Given the description of an element on the screen output the (x, y) to click on. 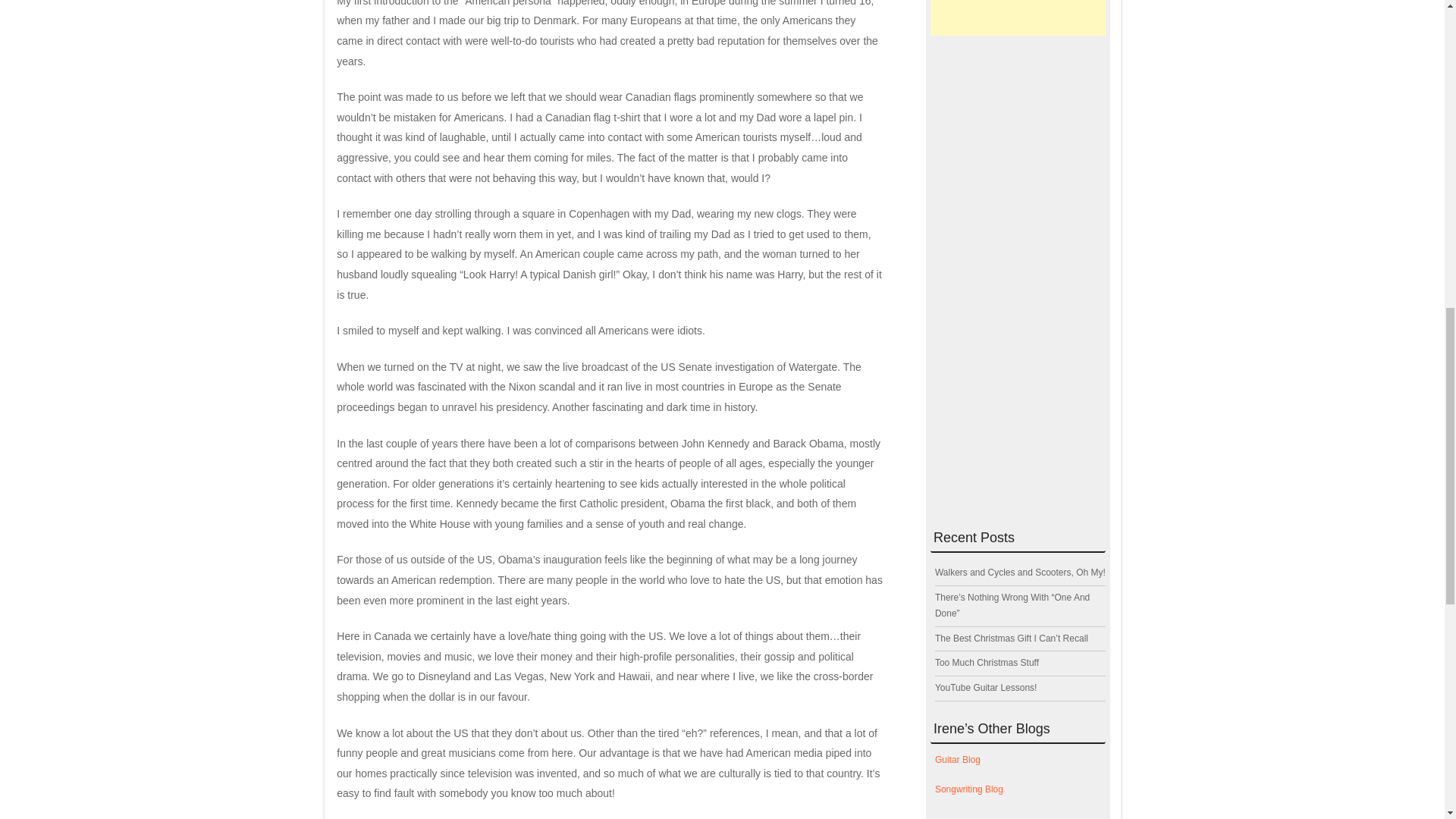
Guitar Blog (956, 759)
YouTube Guitar Lessons! (985, 687)
Too Much Christmas Stuff (986, 662)
Walkers and Cycles and Scooters, Oh My! (1019, 572)
Songwriting Blog (968, 788)
